Given the description of an element on the screen output the (x, y) to click on. 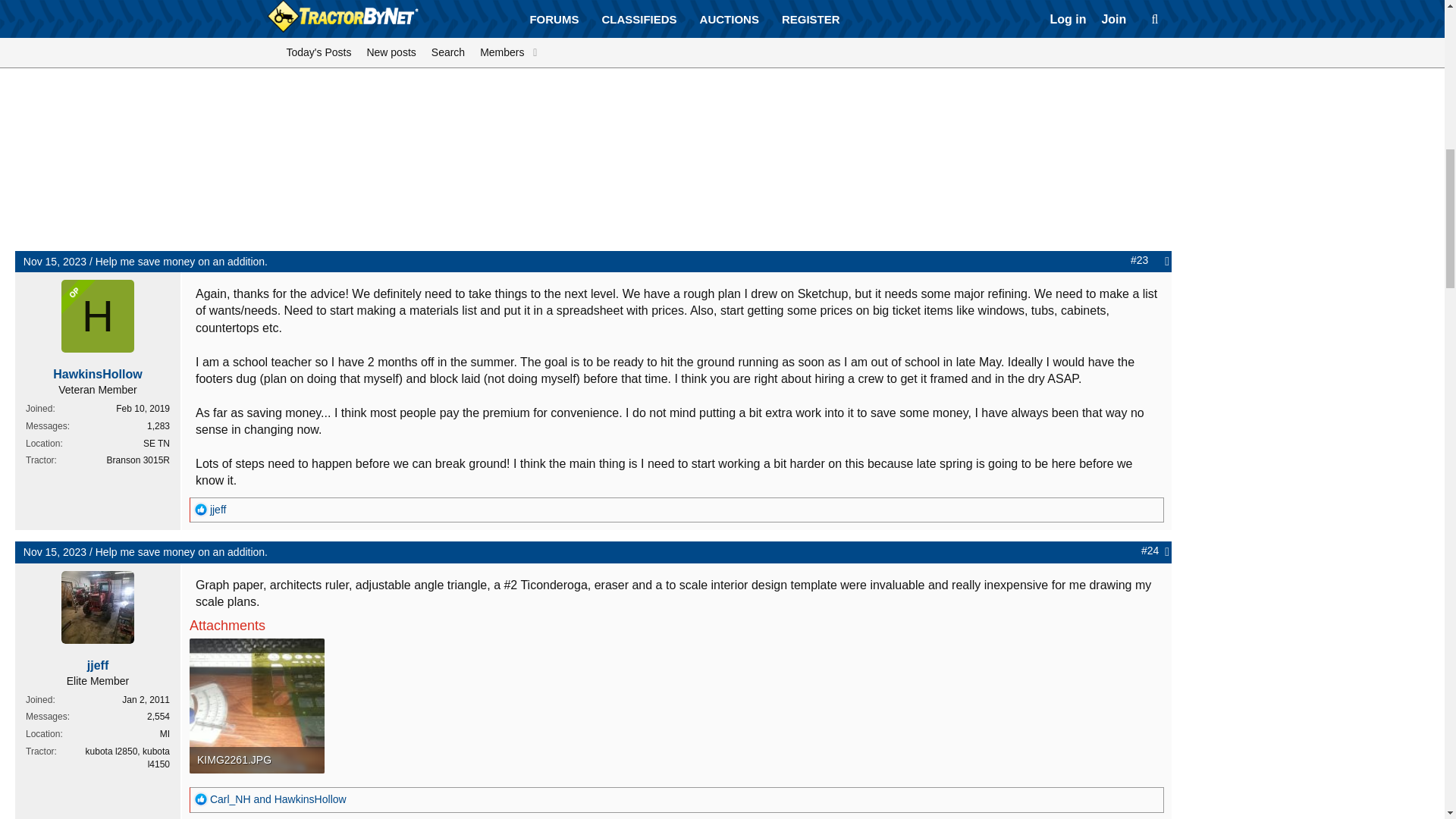
KIMG2261.JPG (256, 759)
Good Post (200, 509)
Nov 15, 2023 at 2:25 PM (54, 261)
Nov 15, 2023 at 2:47 PM (54, 551)
Good Post (200, 799)
